Given the description of an element on the screen output the (x, y) to click on. 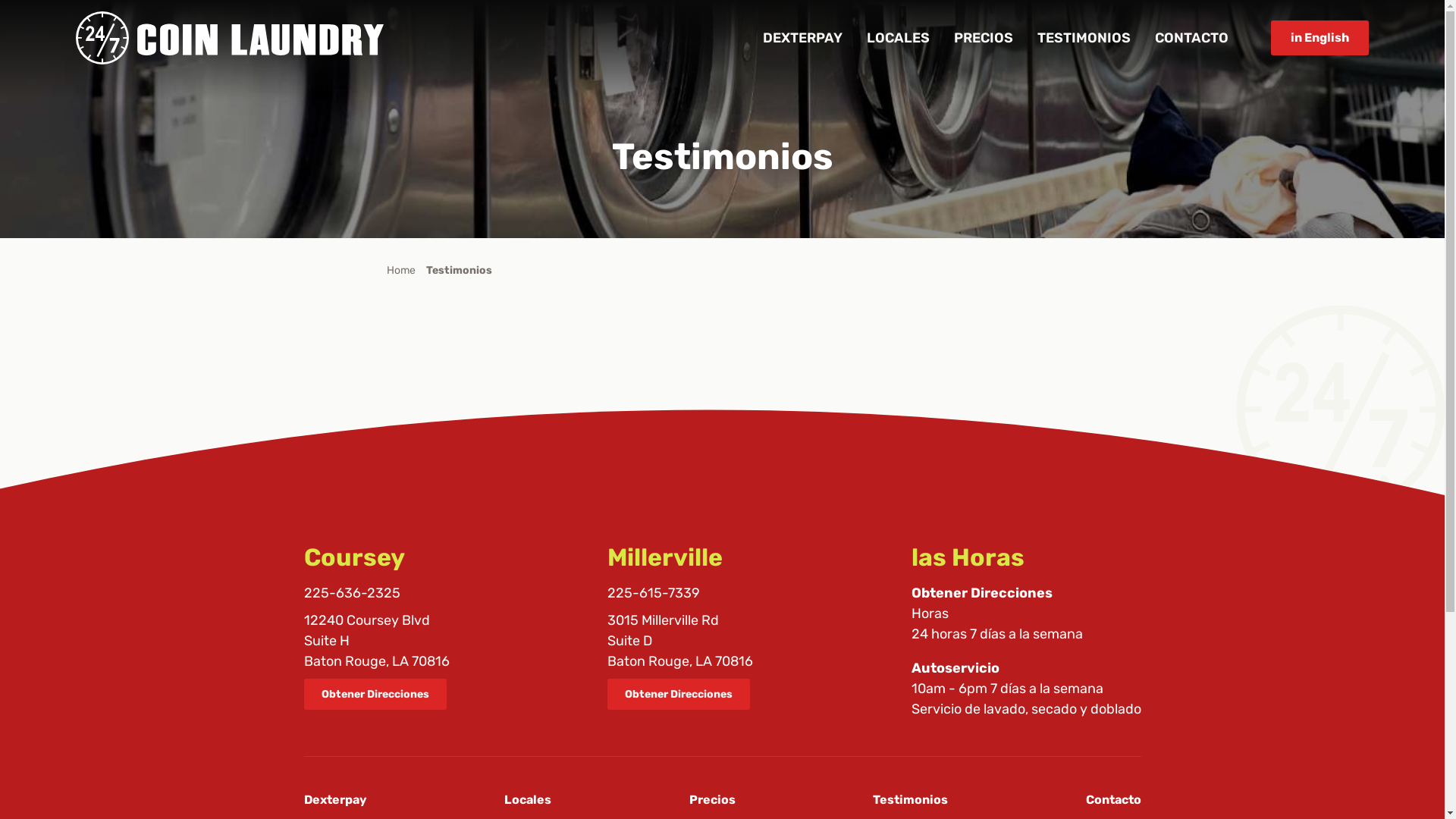
in English Element type: text (1319, 37)
Dexterpay Element type: text (334, 799)
CONTACTO Element type: text (1191, 37)
Contacto Element type: text (1113, 799)
PRECIOS Element type: text (983, 37)
Testimonios Element type: text (909, 799)
Testimonios Element type: text (459, 270)
Locales Element type: text (527, 799)
Obtener Direcciones Element type: text (678, 693)
Home Element type: text (400, 270)
Precios Element type: text (711, 799)
LOCALES Element type: text (897, 37)
TESTIMONIOS Element type: text (1083, 37)
DEXTERPAY Element type: text (802, 37)
Obtener Direcciones Element type: text (374, 693)
